Given the description of an element on the screen output the (x, y) to click on. 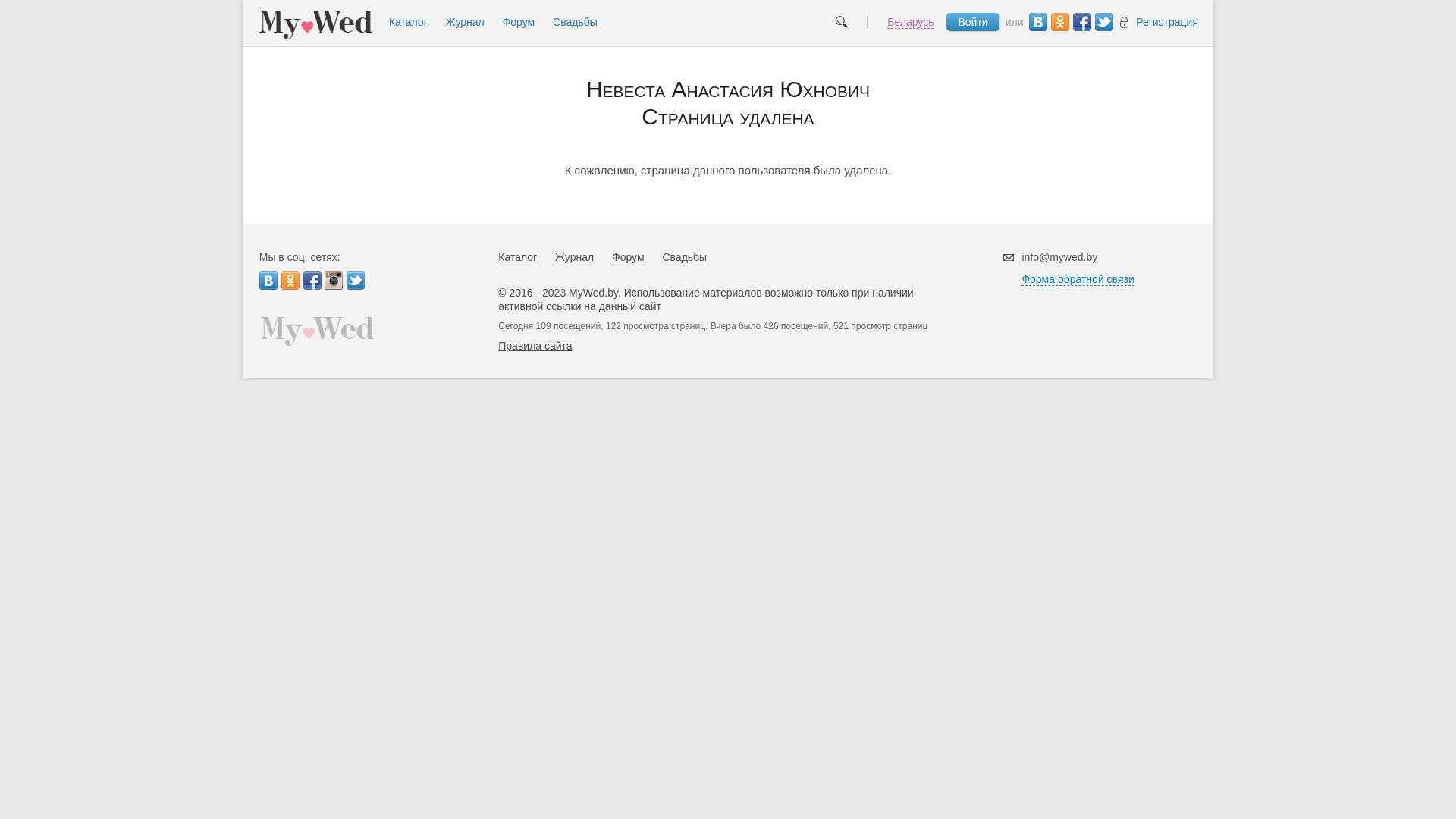
Instagram Element type: text (333, 280)
Twitter Element type: text (355, 280)
Facebook Element type: text (312, 280)
info@mywed.by Element type: text (1059, 257)
Twitter Element type: text (1104, 21)
Facebook Element type: text (1082, 21)
